Given the description of an element on the screen output the (x, y) to click on. 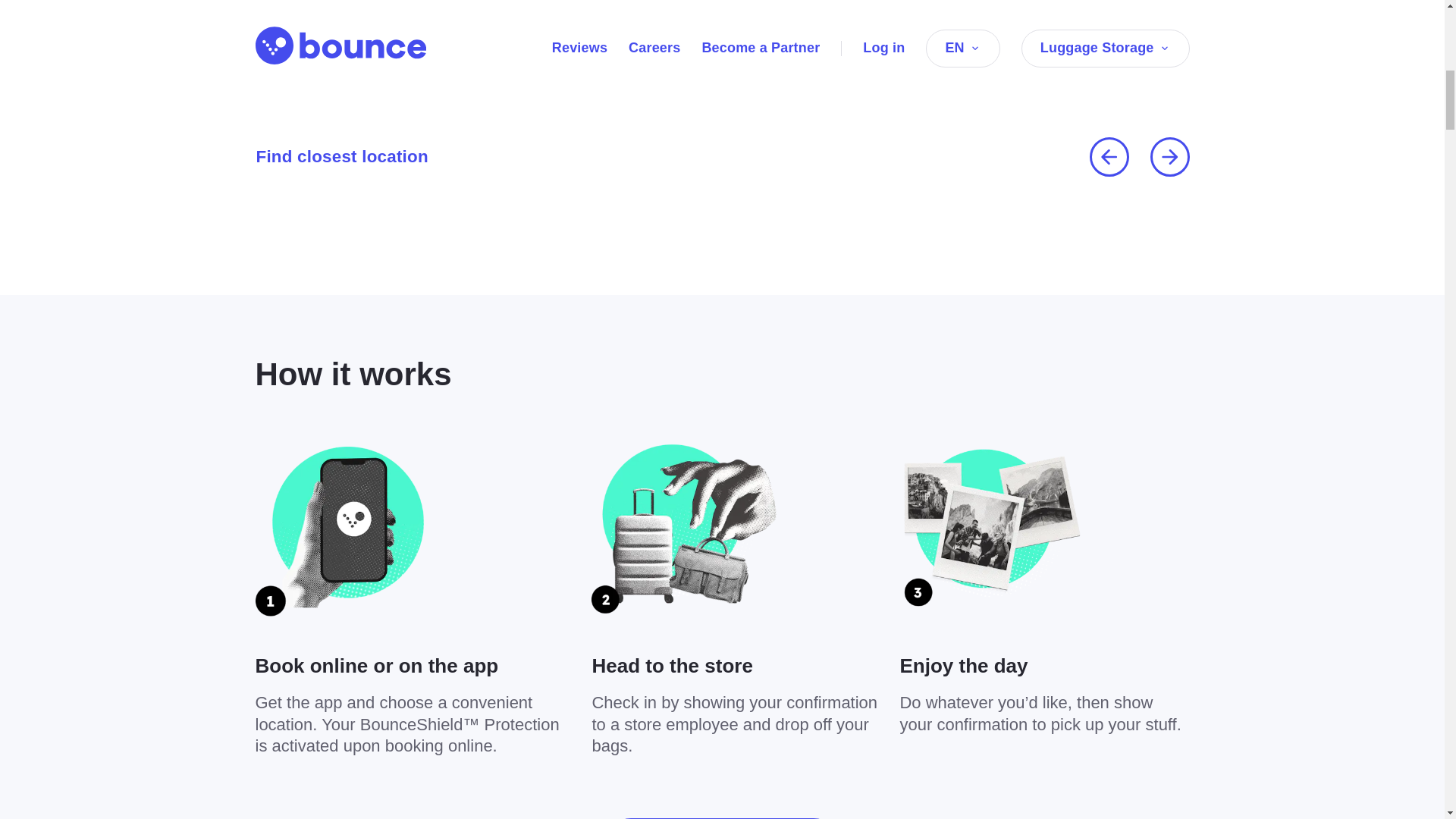
Find closest location (341, 156)
